Given the description of an element on the screen output the (x, y) to click on. 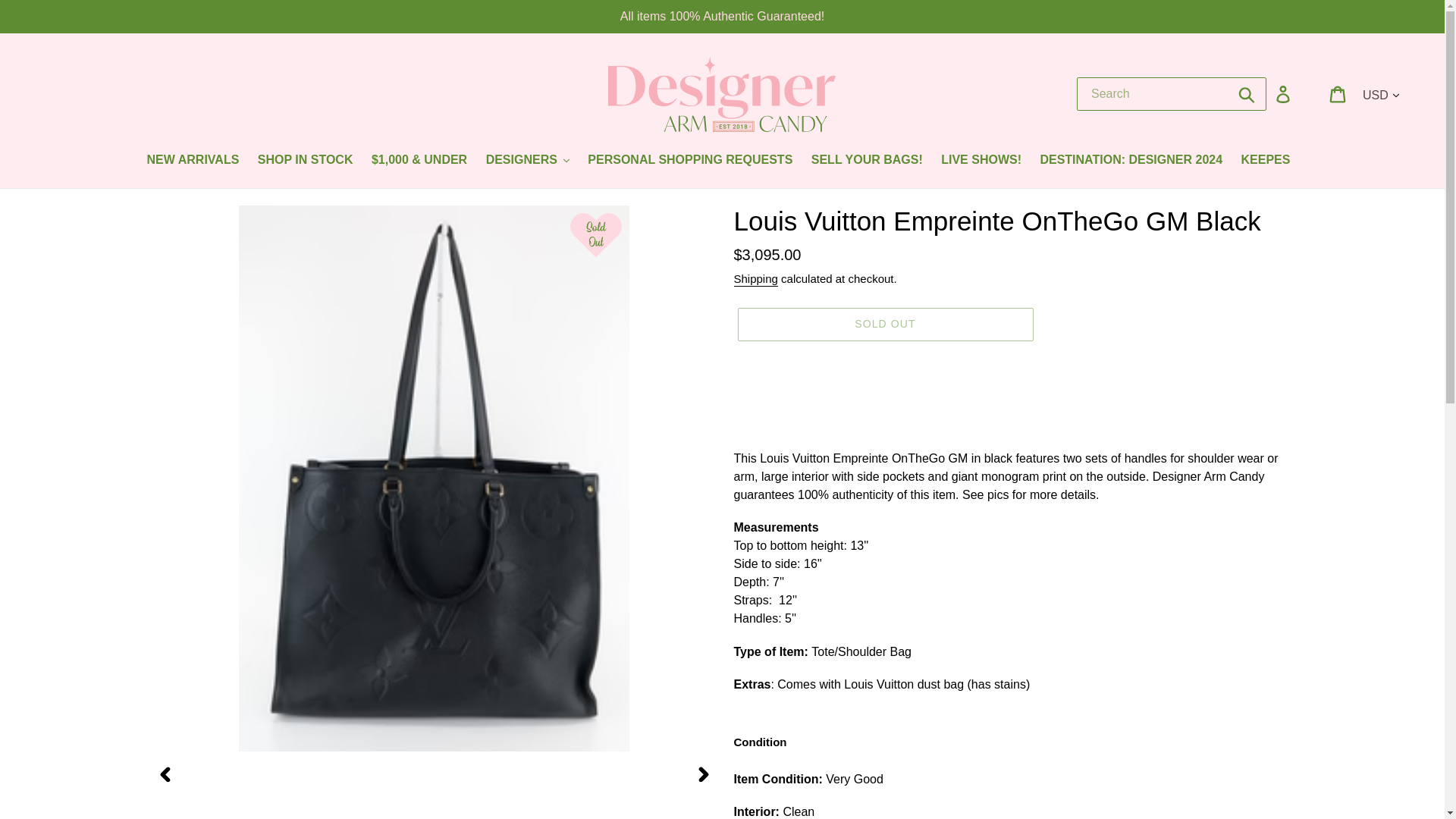
DESTINATION: DESIGNER 2024 (1131, 160)
PREVIOUS SLIDE (165, 773)
SELL YOUR BAGS! (866, 160)
LIVE SHOWS! (981, 160)
SHOP IN STOCK (305, 160)
PERSONAL SHOPPING REQUESTS (689, 160)
Log in (1283, 93)
NEW ARRIVALS (193, 160)
Submit (1247, 93)
KEEPES (1265, 160)
